Given the description of an element on the screen output the (x, y) to click on. 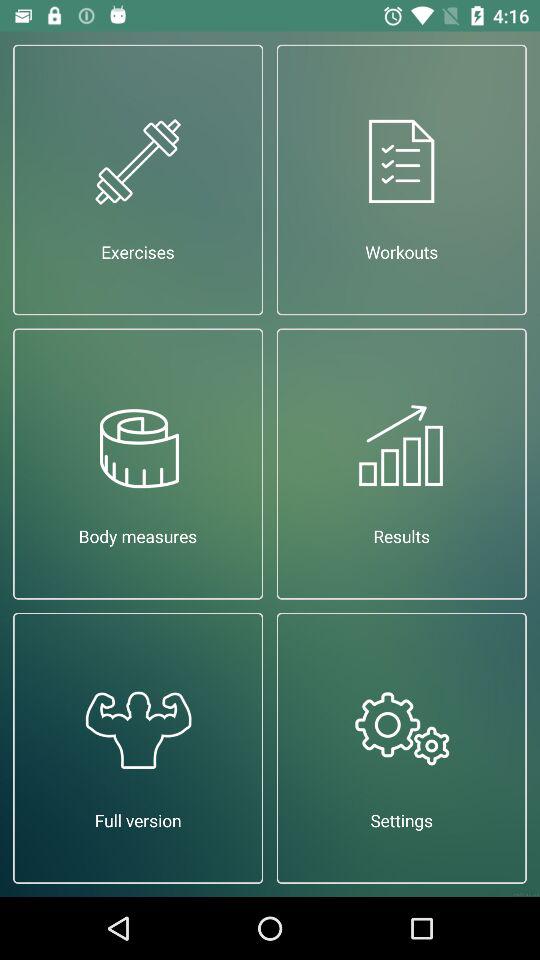
press icon to the left of results item (137, 463)
